Given the description of an element on the screen output the (x, y) to click on. 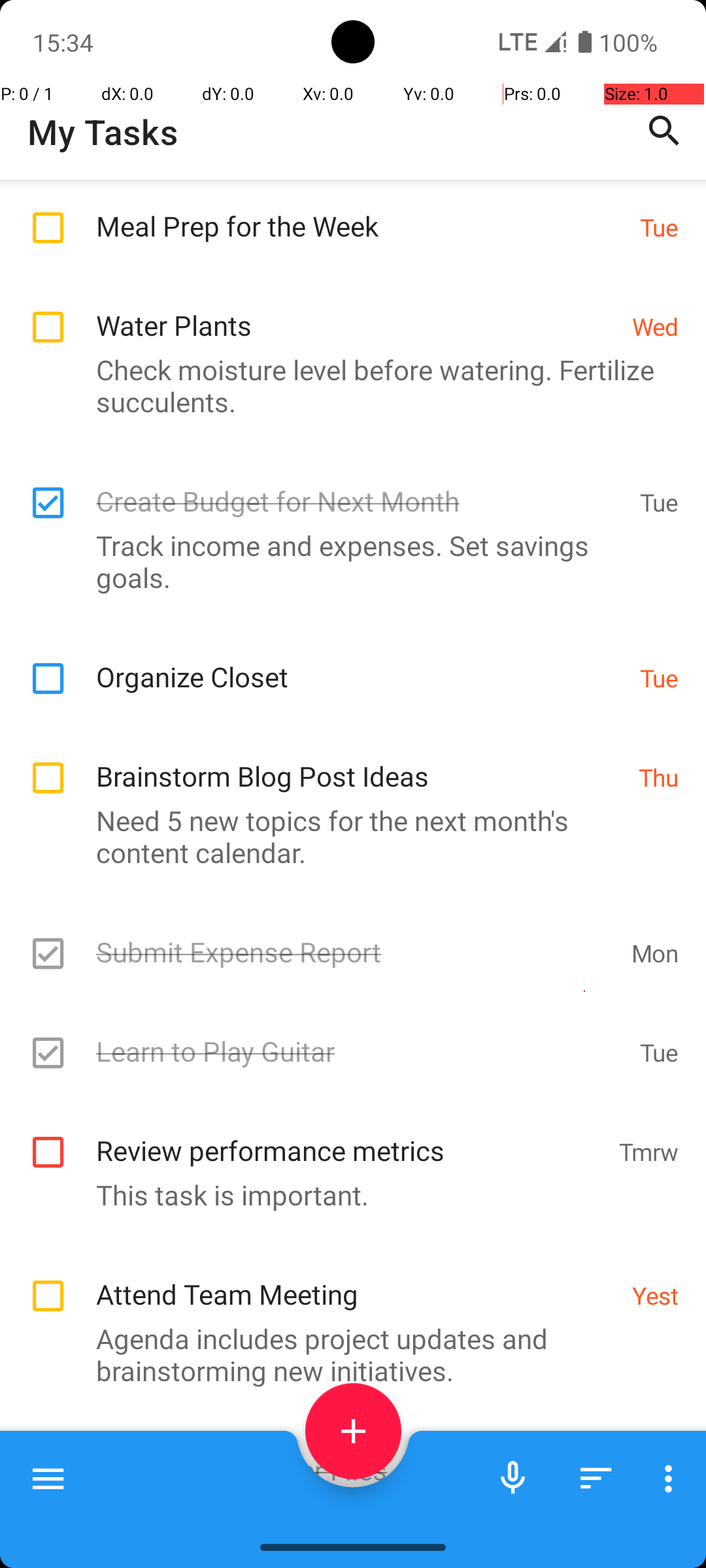
Need 5 new topics for the next month's content calendar. Element type: android.widget.TextView (346, 835)
Review performance metrics Element type: android.widget.TextView (350, 1136)
This task is important. Element type: android.widget.TextView (346, 1194)
